Given the description of an element on the screen output the (x, y) to click on. 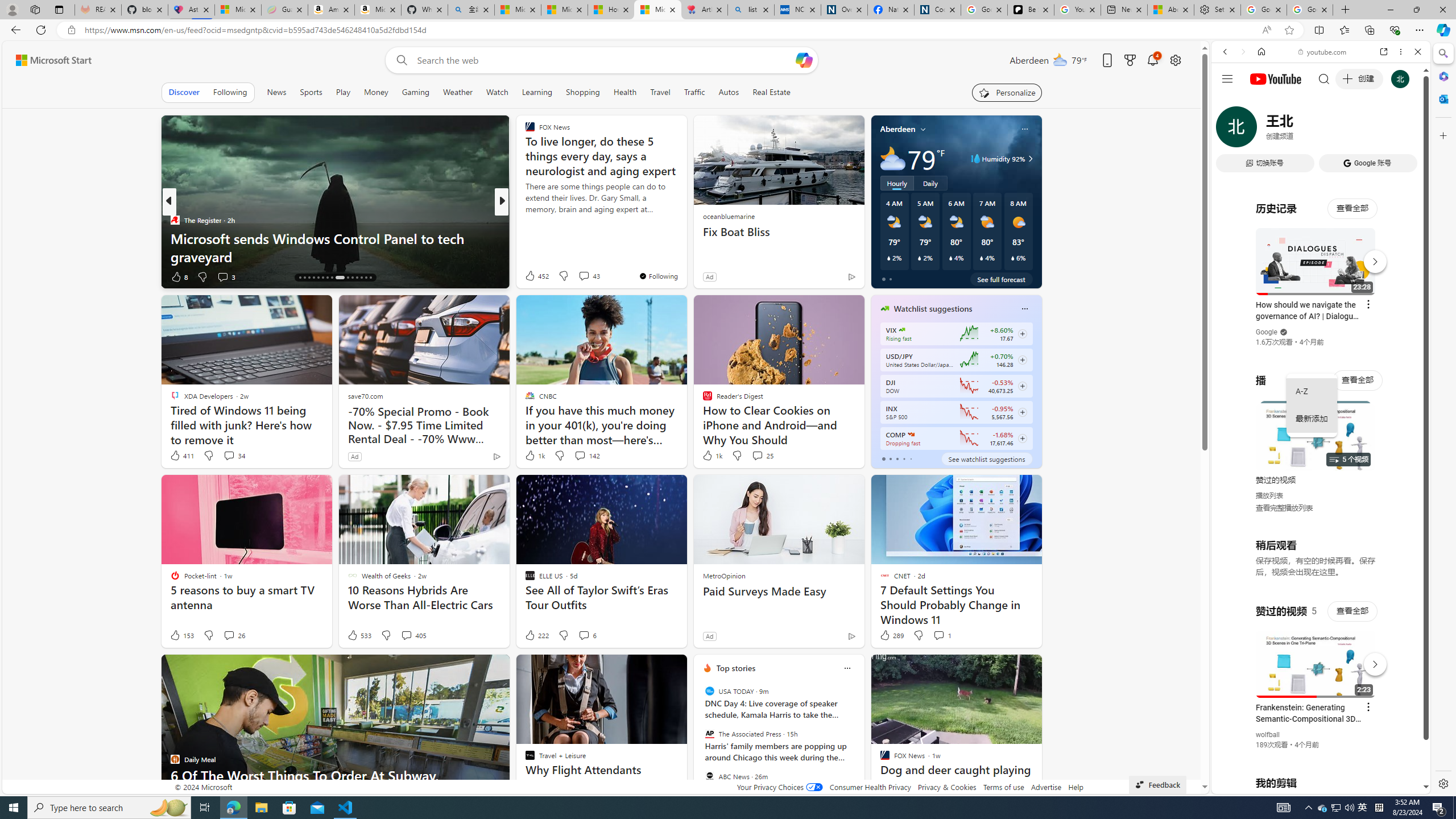
AutomationID: tab-18 (309, 277)
View comments 6 Comment (587, 634)
289 Like (890, 634)
Your Privacy Choices (779, 786)
Click to scroll right (1407, 456)
CBOE Market Volatility Index (901, 329)
